Given the description of an element on the screen output the (x, y) to click on. 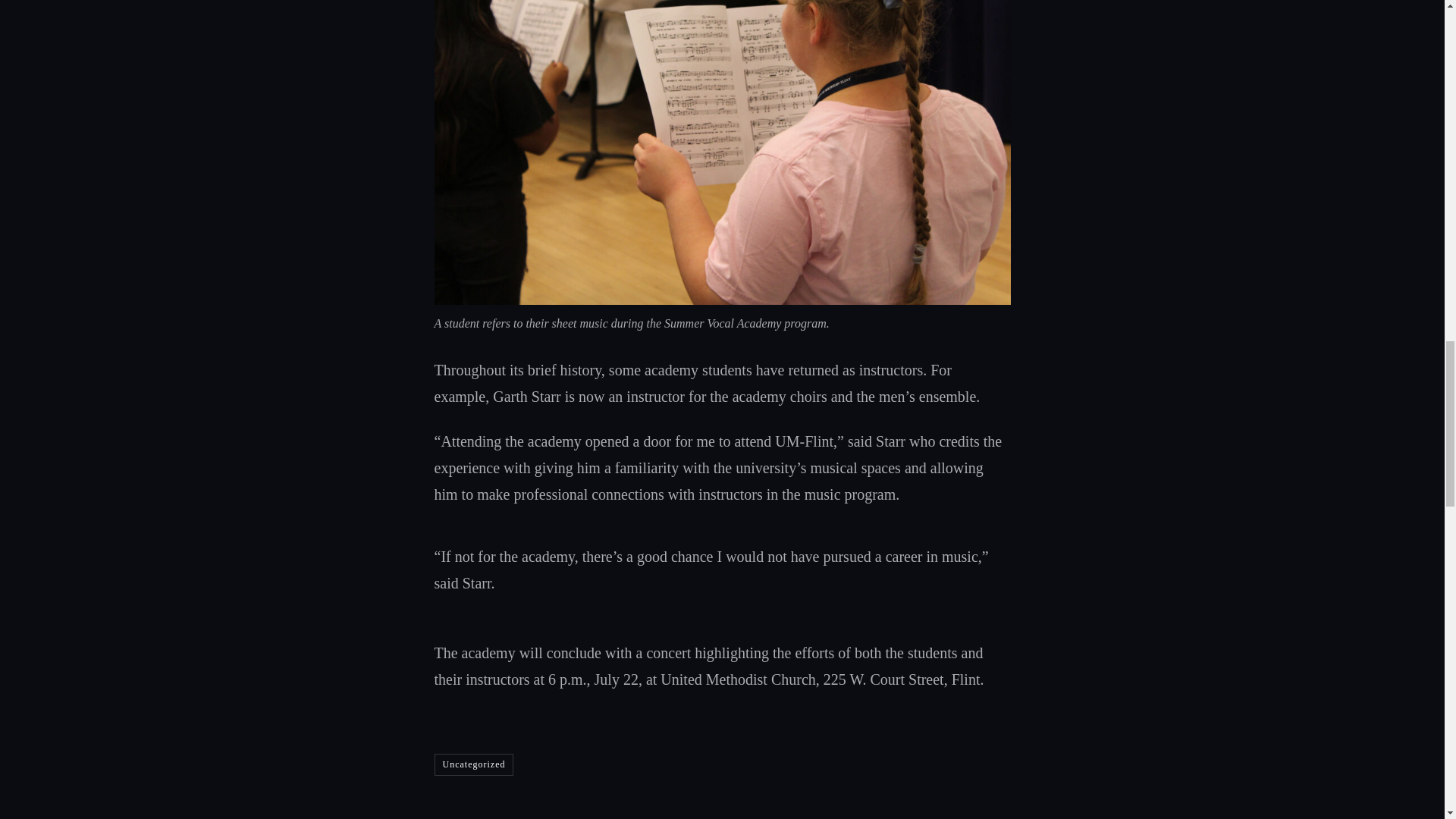
Uncategorized (473, 764)
